Given the description of an element on the screen output the (x, y) to click on. 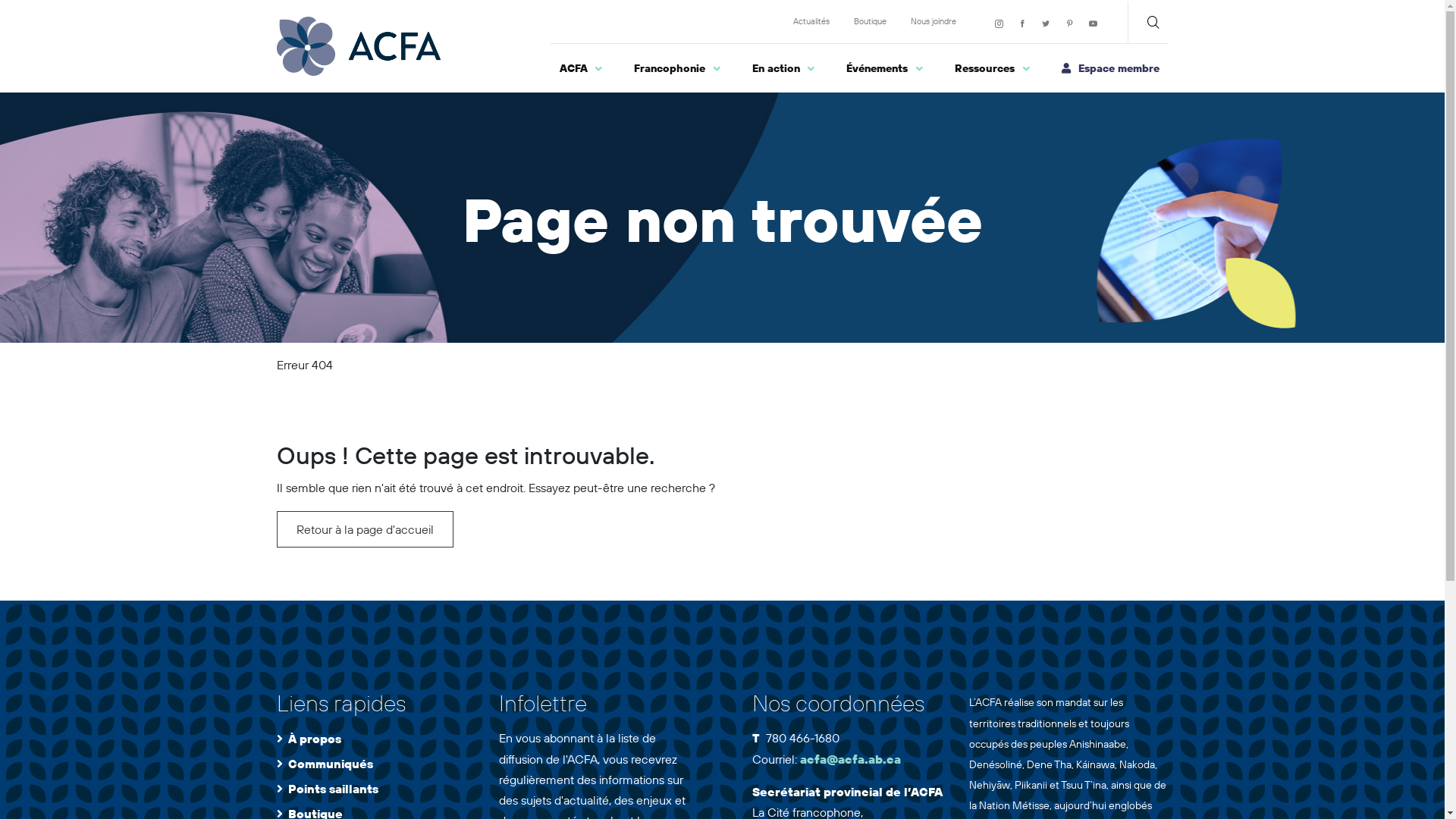
ACFA Element type: text (581, 67)
Youtube Element type: hover (1092, 23)
Instagram Element type: hover (998, 23)
Twitter Element type: hover (1045, 23)
Boutique Element type: text (869, 21)
Pinterest Element type: hover (1068, 23)
Points saillants Element type: text (333, 788)
Francophonie Element type: text (677, 67)
En action Element type: text (784, 67)
Espace membre Element type: text (1110, 68)
Ressources Element type: text (992, 67)
Facebook Element type: hover (1021, 23)
Nous joindre Element type: text (932, 21)
acfa@acfa.ab.ca Element type: text (850, 758)
